Given the description of an element on the screen output the (x, y) to click on. 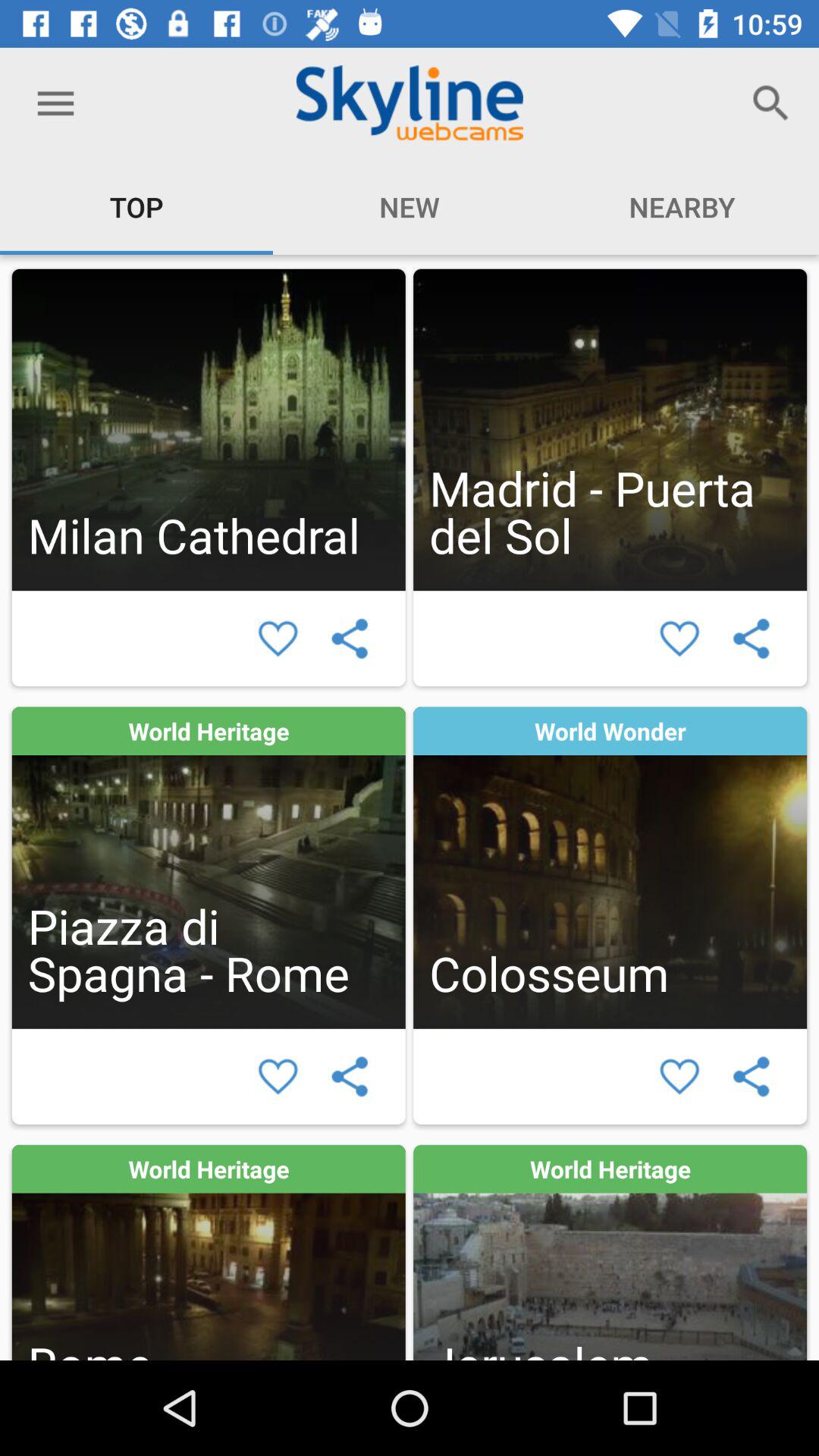
save as favorite (679, 638)
